Given the description of an element on the screen output the (x, y) to click on. 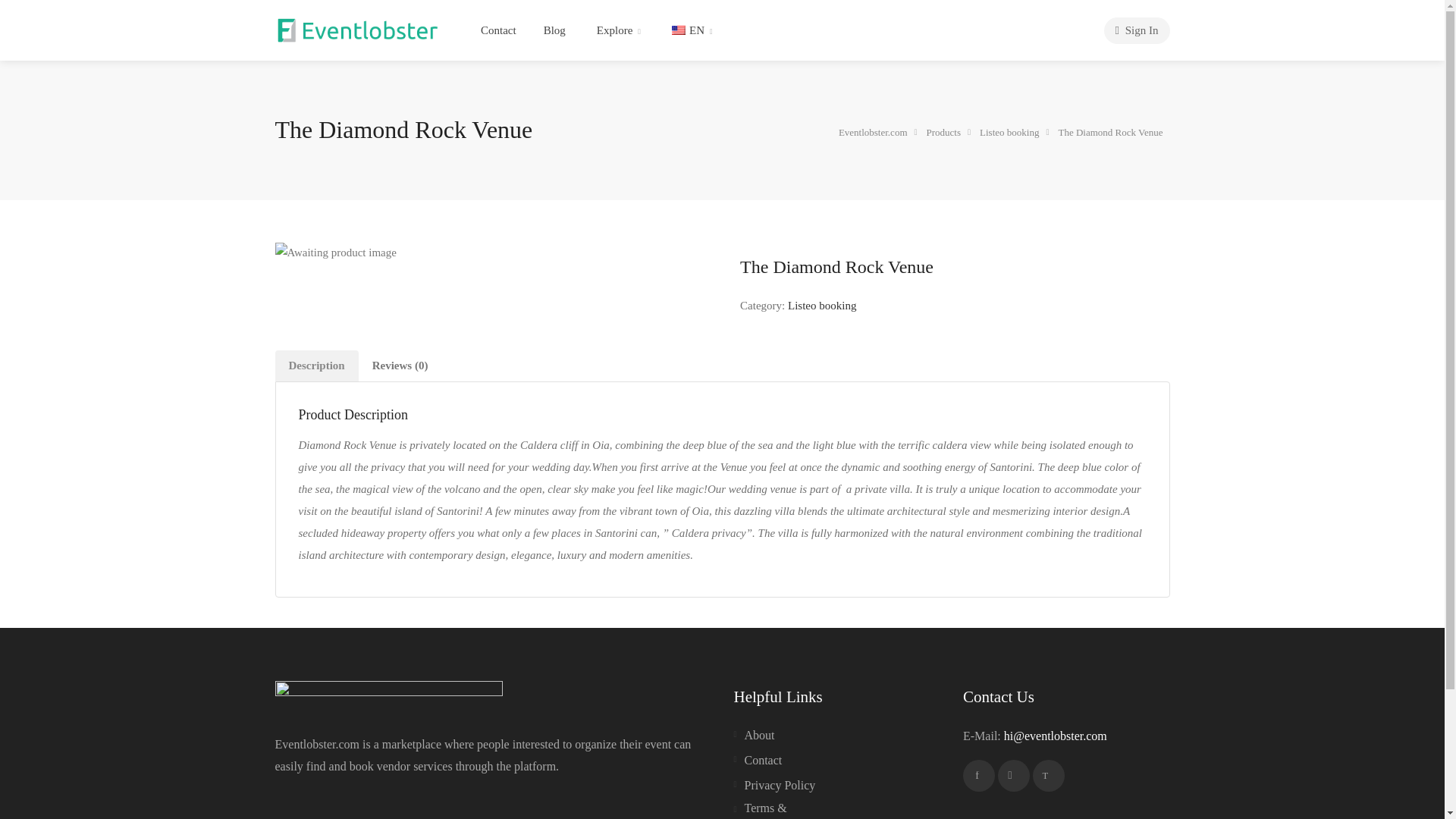
Eventlobster.com (358, 29)
Sign In (1136, 30)
EN (689, 30)
English (678, 30)
Go to the Listeo booking Category archives. (1010, 131)
Go to Products. (944, 131)
Go to Eventlobster.com. (874, 131)
Blog (554, 30)
Explore (616, 30)
Contact (497, 30)
